Given the description of an element on the screen output the (x, y) to click on. 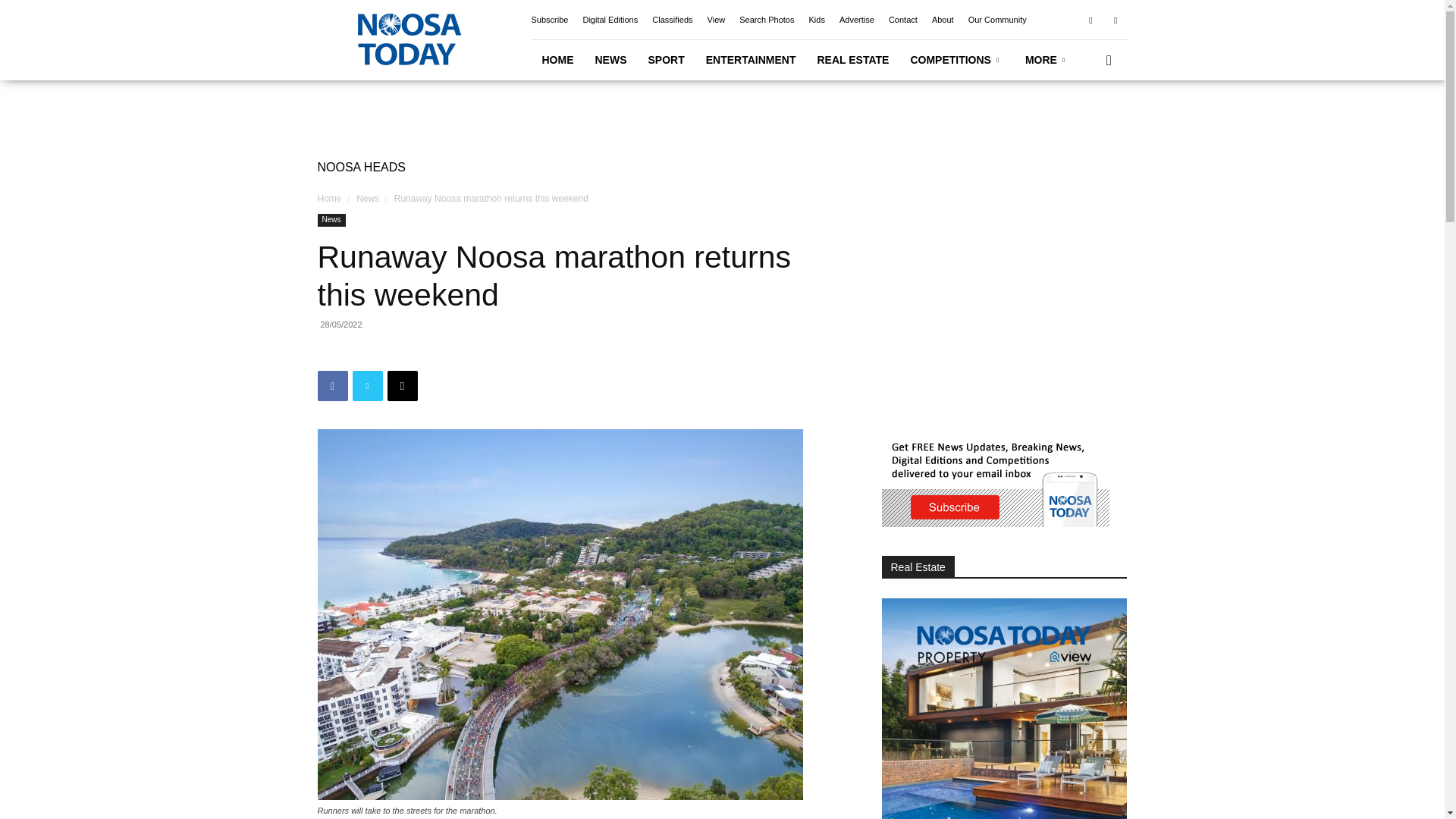
About (942, 19)
Advertise (857, 19)
Twitter (366, 386)
Digital Editions (609, 19)
View all posts in News (367, 198)
Email (401, 386)
Search Photos (766, 19)
View (716, 19)
Classifieds (672, 19)
Our Community (997, 19)
Facebook (1090, 19)
Kids (816, 19)
Noosa Today (407, 39)
Twitter (1114, 19)
Subscribe (549, 19)
